Given the description of an element on the screen output the (x, y) to click on. 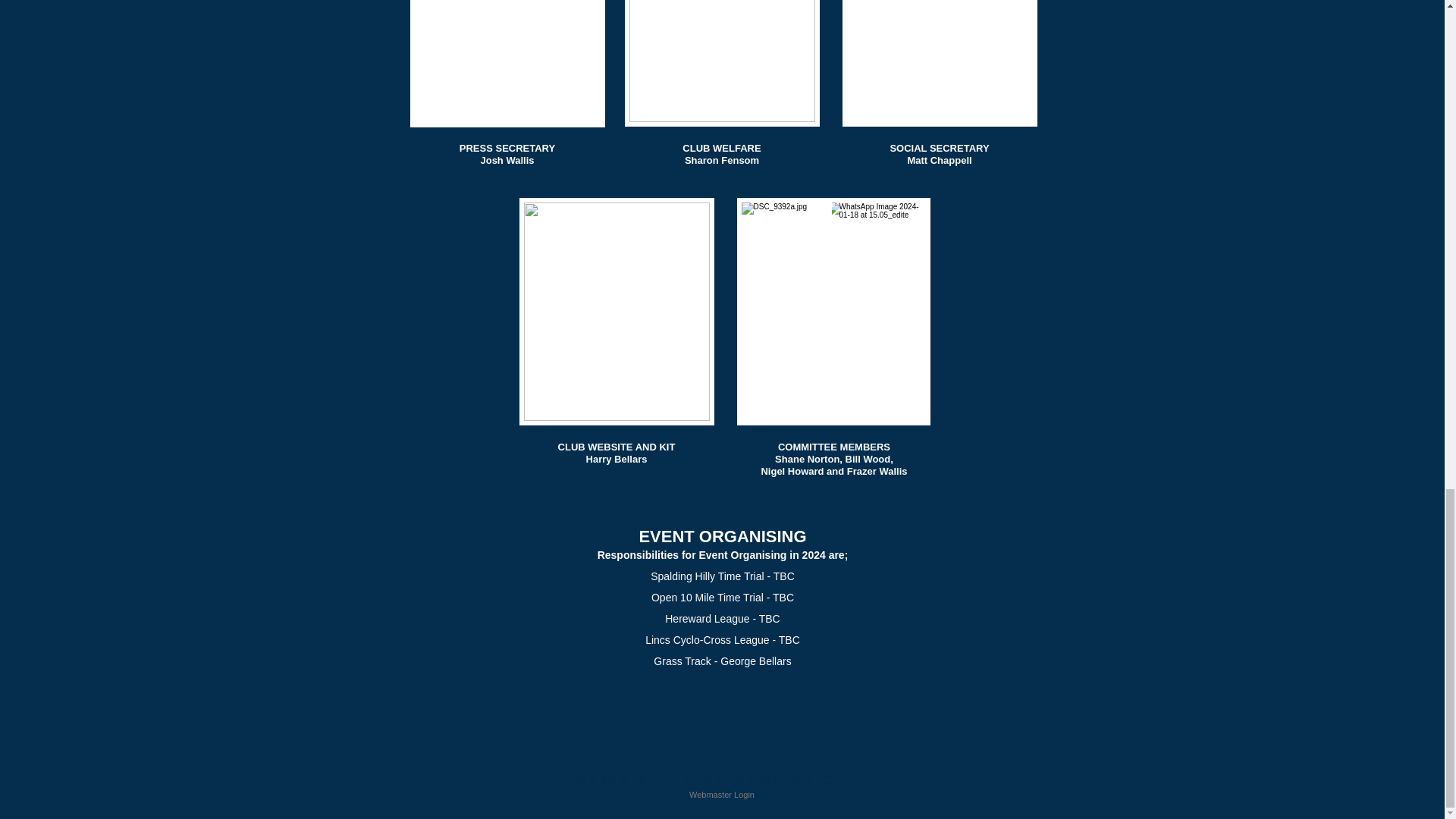
Webmaster Login (721, 795)
